Given the description of an element on the screen output the (x, y) to click on. 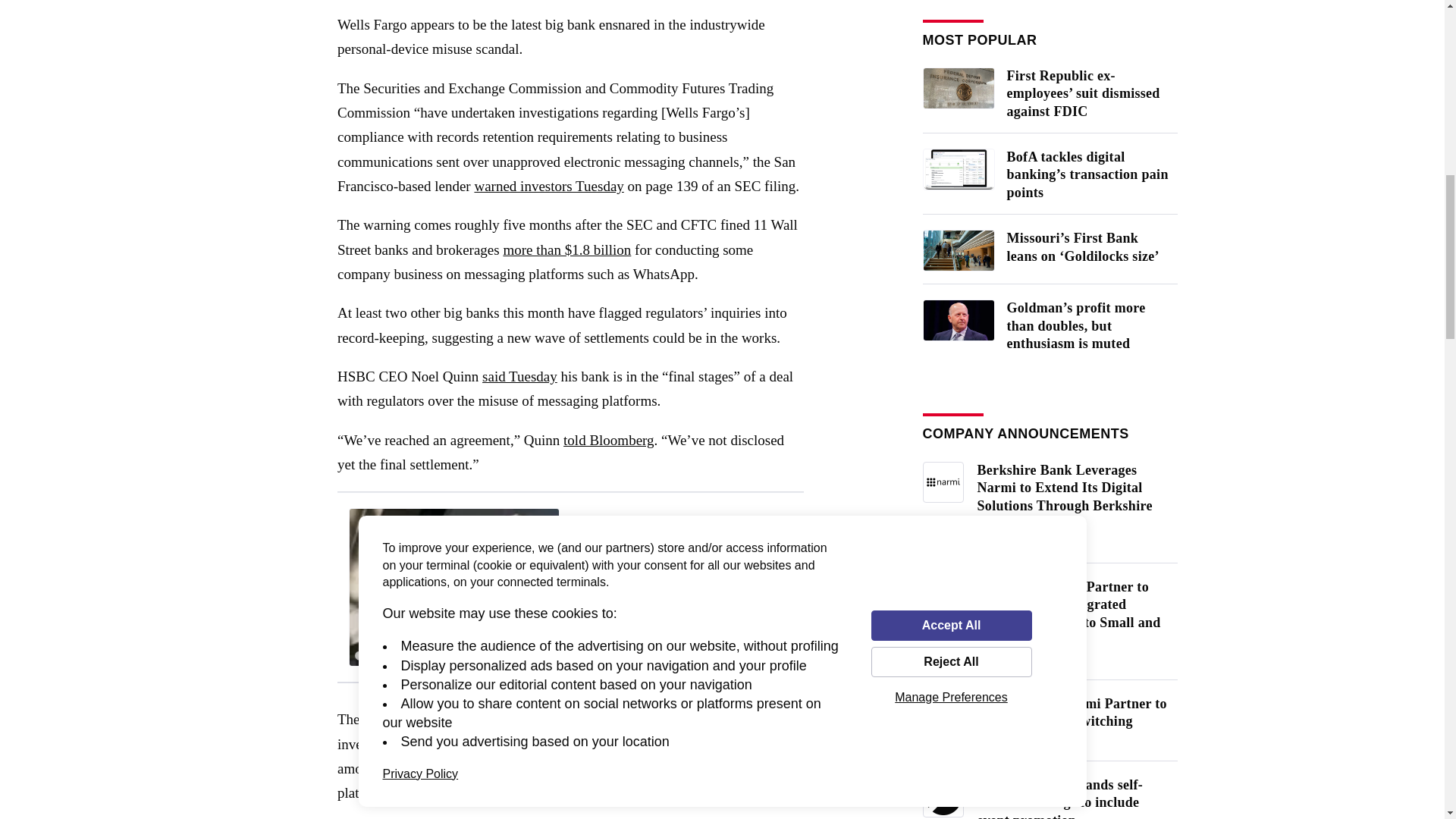
warned investors Tuesday (548, 186)
